Given the description of an element on the screen output the (x, y) to click on. 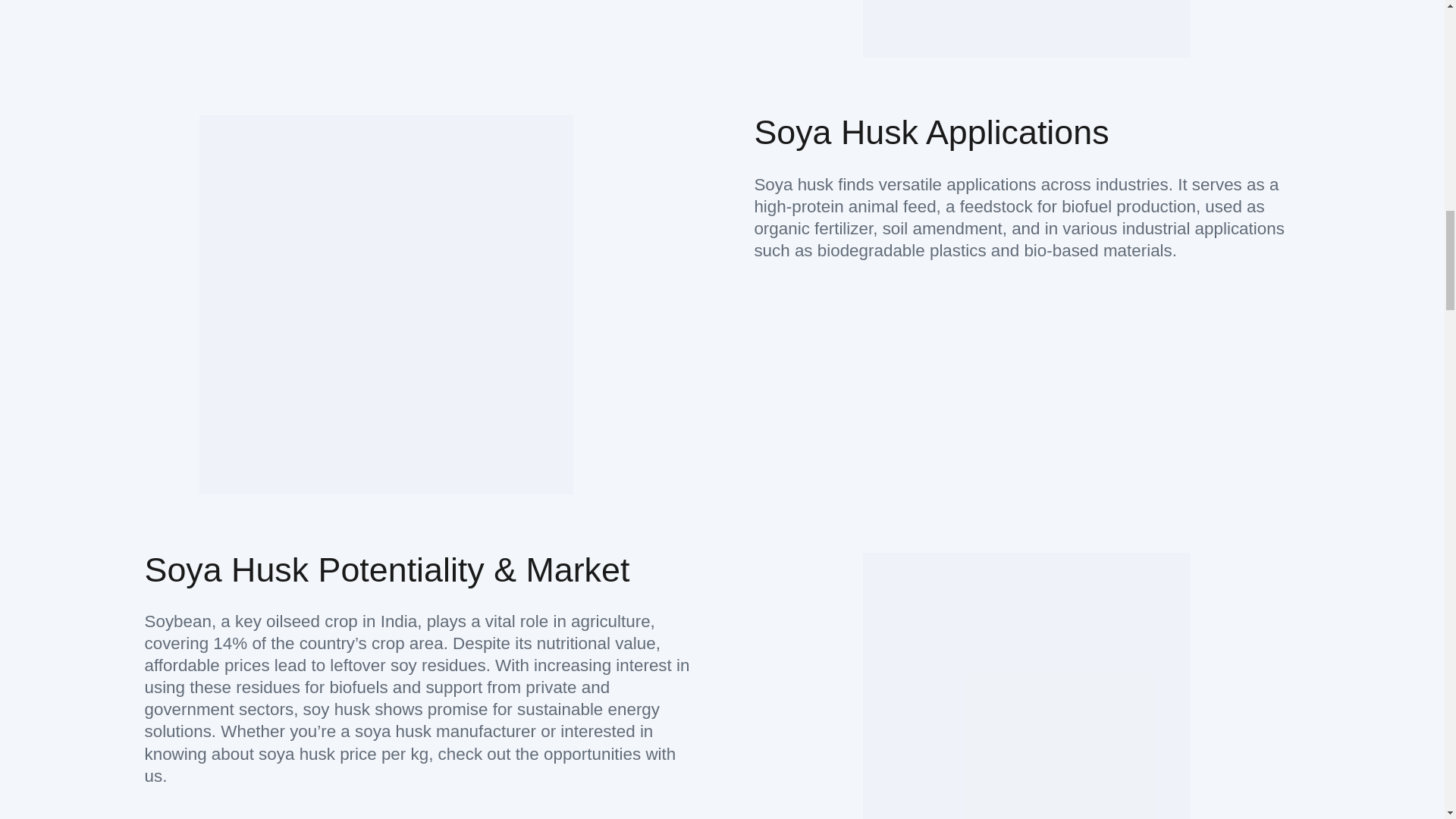
soya-husk-potentiality-and-market (1027, 685)
soya-husk-extraction-process (1027, 28)
